Given the description of an element on the screen output the (x, y) to click on. 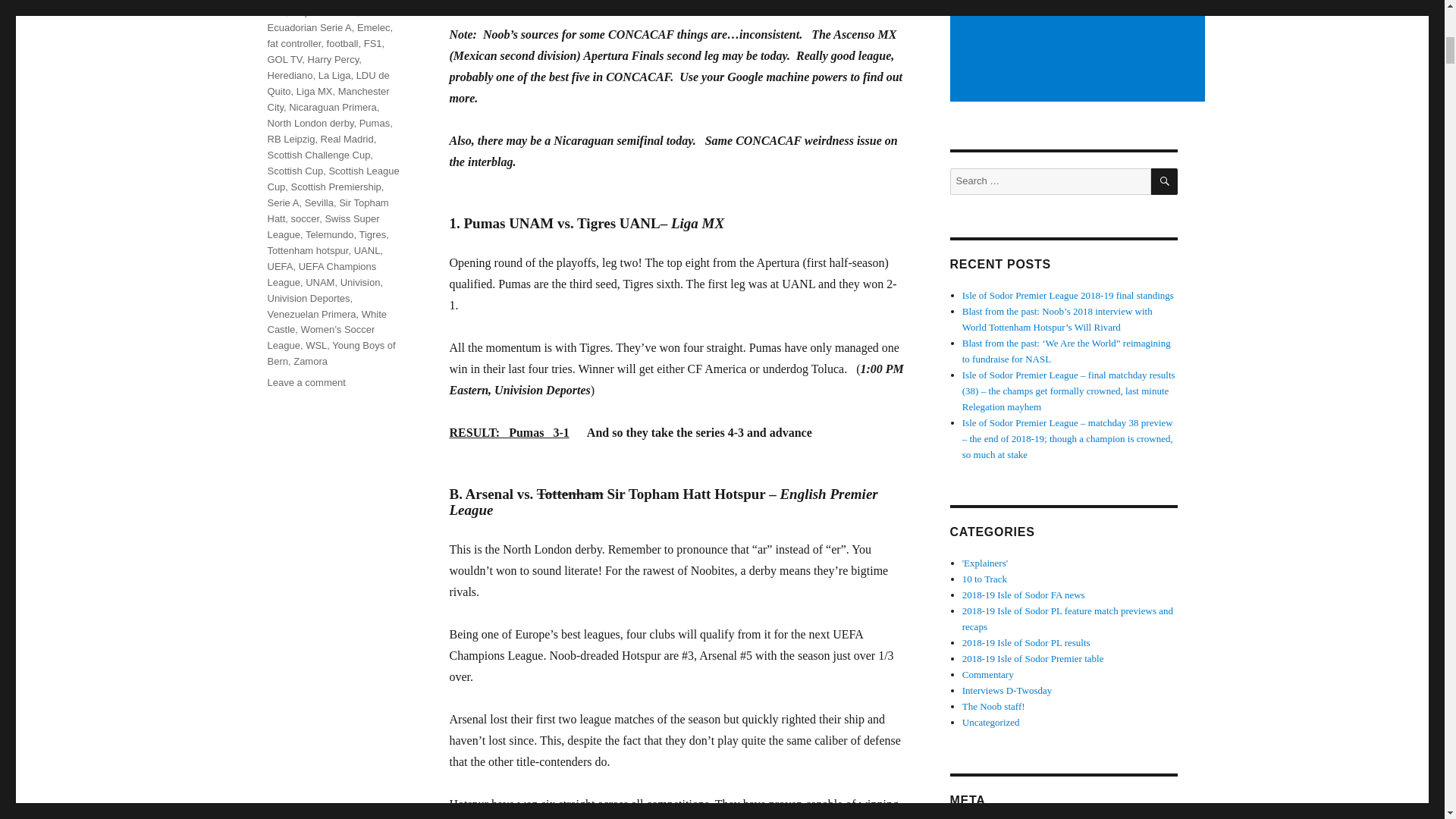
North London derby (309, 122)
Herediano (289, 75)
Liga MX (315, 91)
RB Leipzig (290, 138)
fat controller (293, 43)
Cruz Azul (325, 8)
Deportivo Lara (324, 11)
Nicaraguan Primera (332, 107)
Costa Rican Primera (312, 0)
LDU de Quito (327, 83)
